Given the description of an element on the screen output the (x, y) to click on. 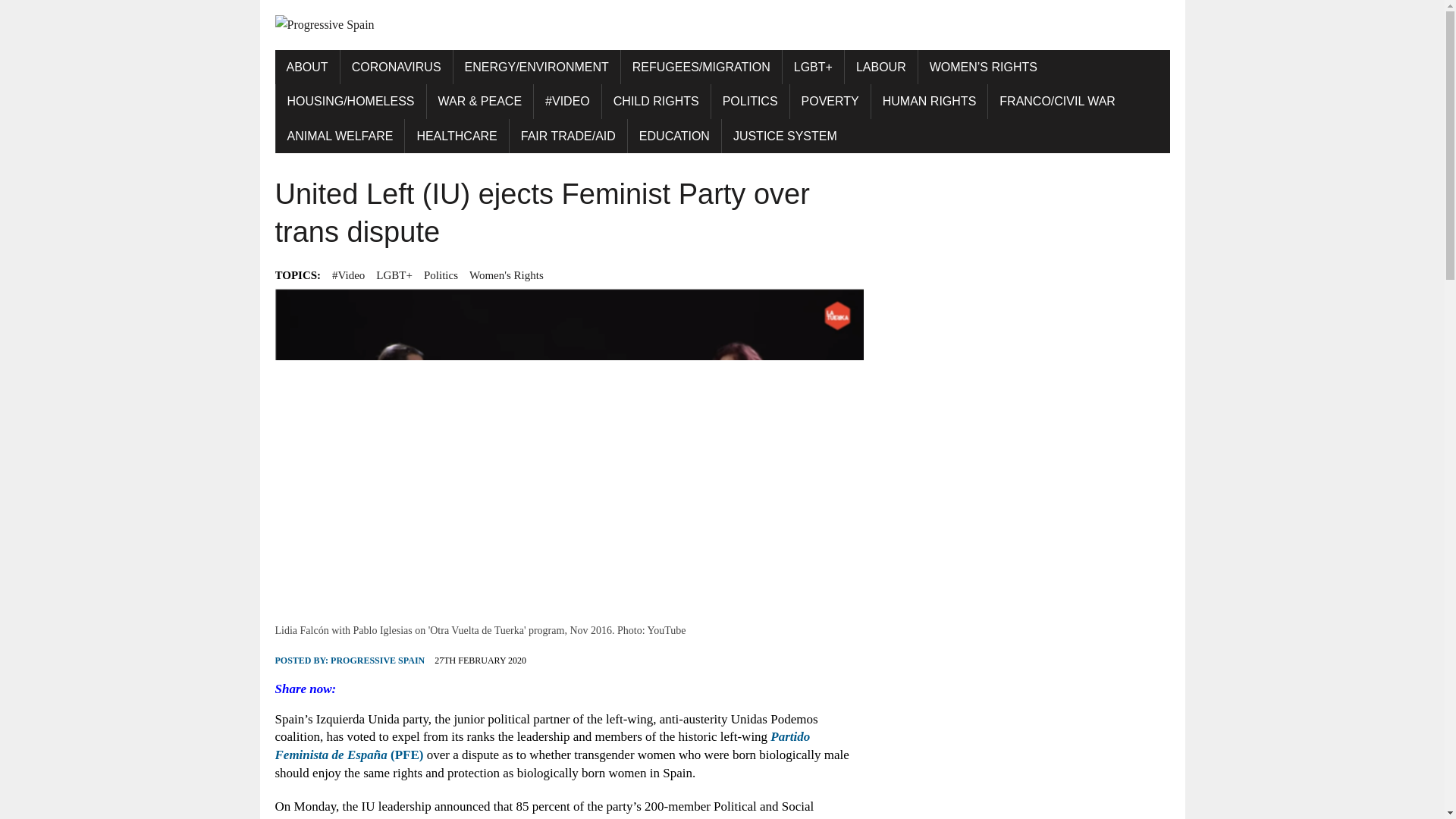
POLITICS (750, 101)
ANIMAL WELFARE (340, 135)
Politics (440, 275)
JUSTICE SYSTEM (785, 135)
POVERTY (830, 101)
CHILD RIGHTS (656, 101)
Women'S Rights (505, 275)
Progressive Spain (722, 25)
HEALTHCARE (456, 135)
EDUCATION (673, 135)
PROGRESSIVE SPAIN (377, 660)
LABOUR (880, 67)
CORONAVIRUS (396, 67)
HUMAN RIGHTS (929, 101)
ABOUT (307, 67)
